Given the description of an element on the screen output the (x, y) to click on. 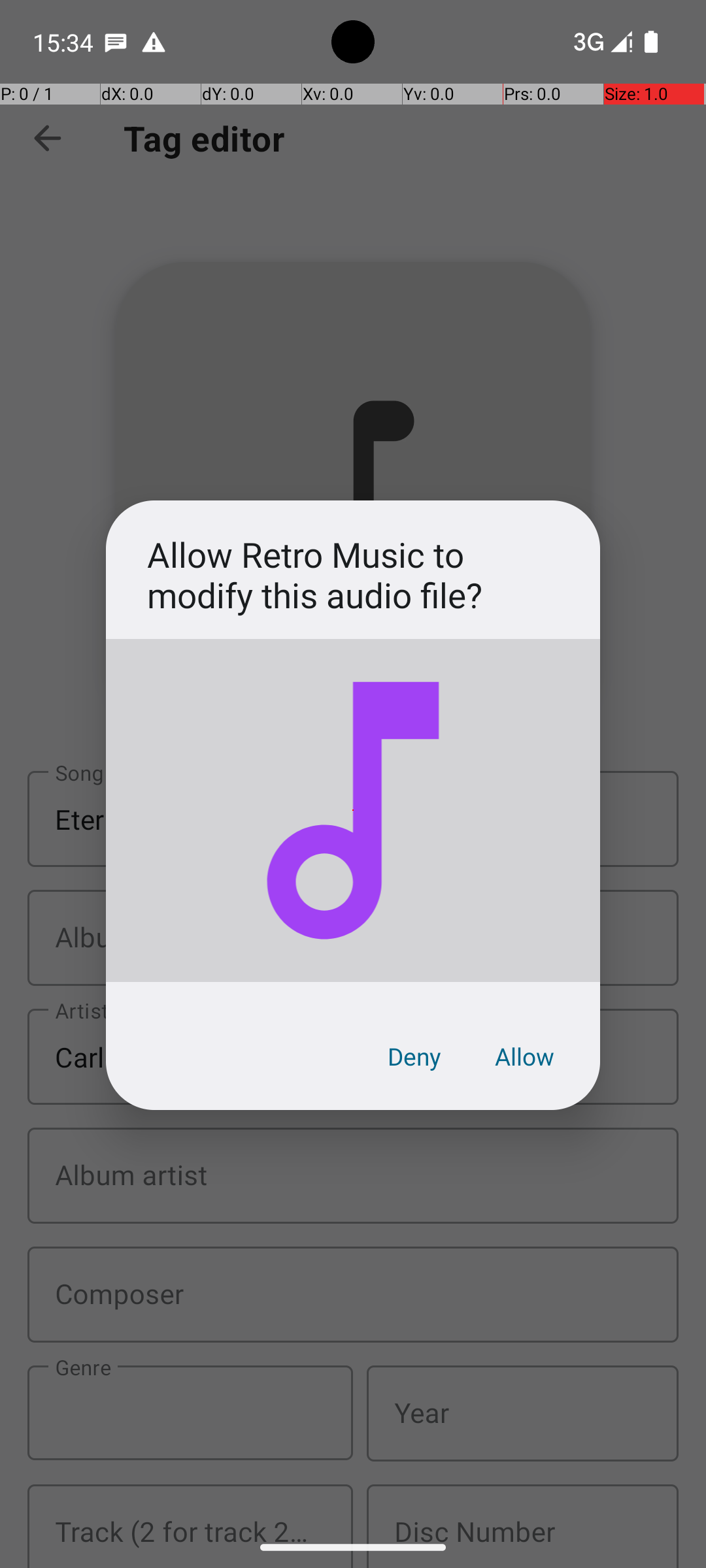
Allow Retro Music to modify this audio file? Element type: android.widget.TextView (352, 574)
Eternal Flame.mp3 Element type: android.widget.ImageView (352, 809)
Deny Element type: android.widget.Button (414, 1056)
Allow Element type: android.widget.Button (524, 1056)
